Given the description of an element on the screen output the (x, y) to click on. 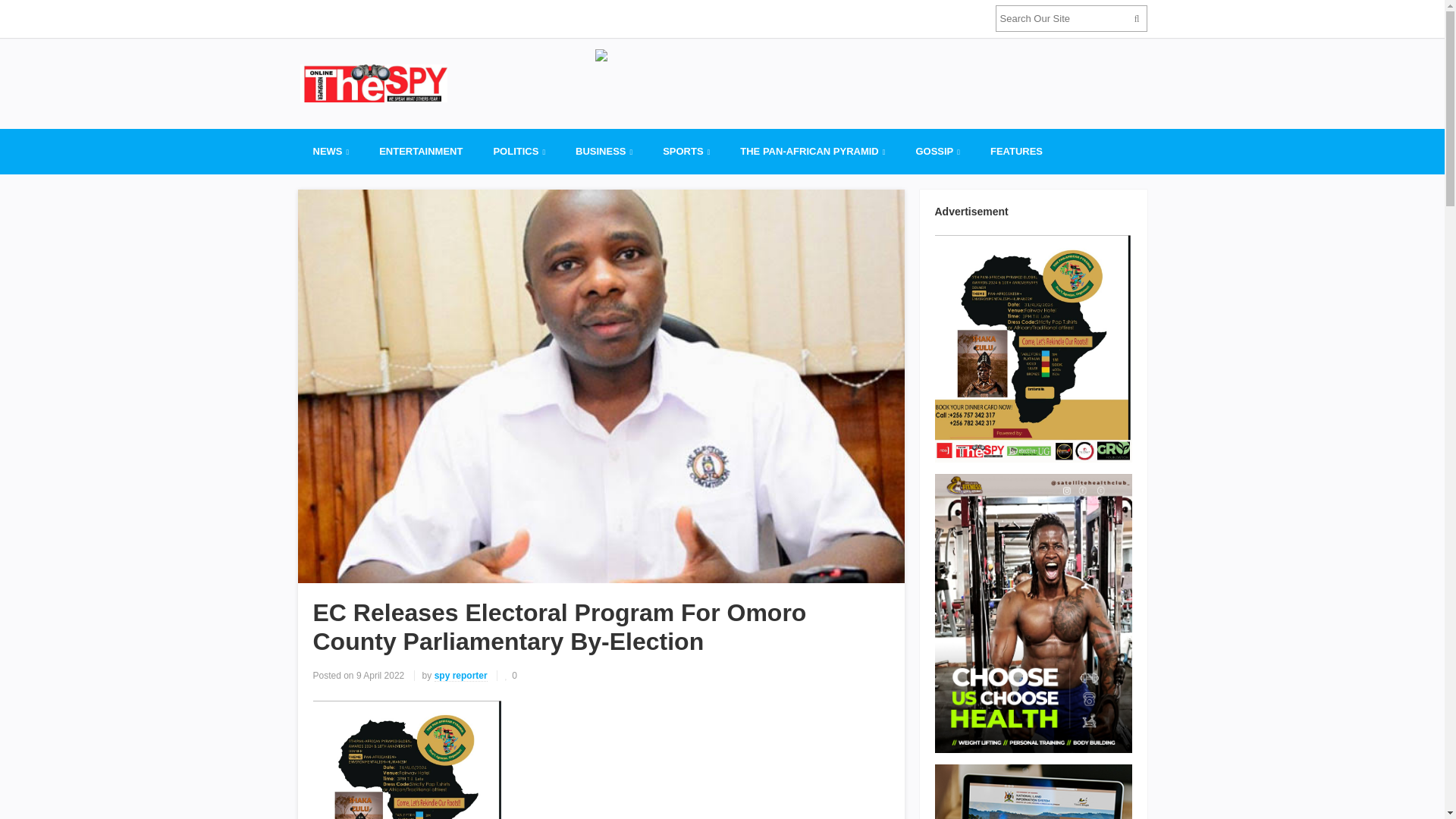
NEWS (330, 151)
Like this (510, 675)
